Given the description of an element on the screen output the (x, y) to click on. 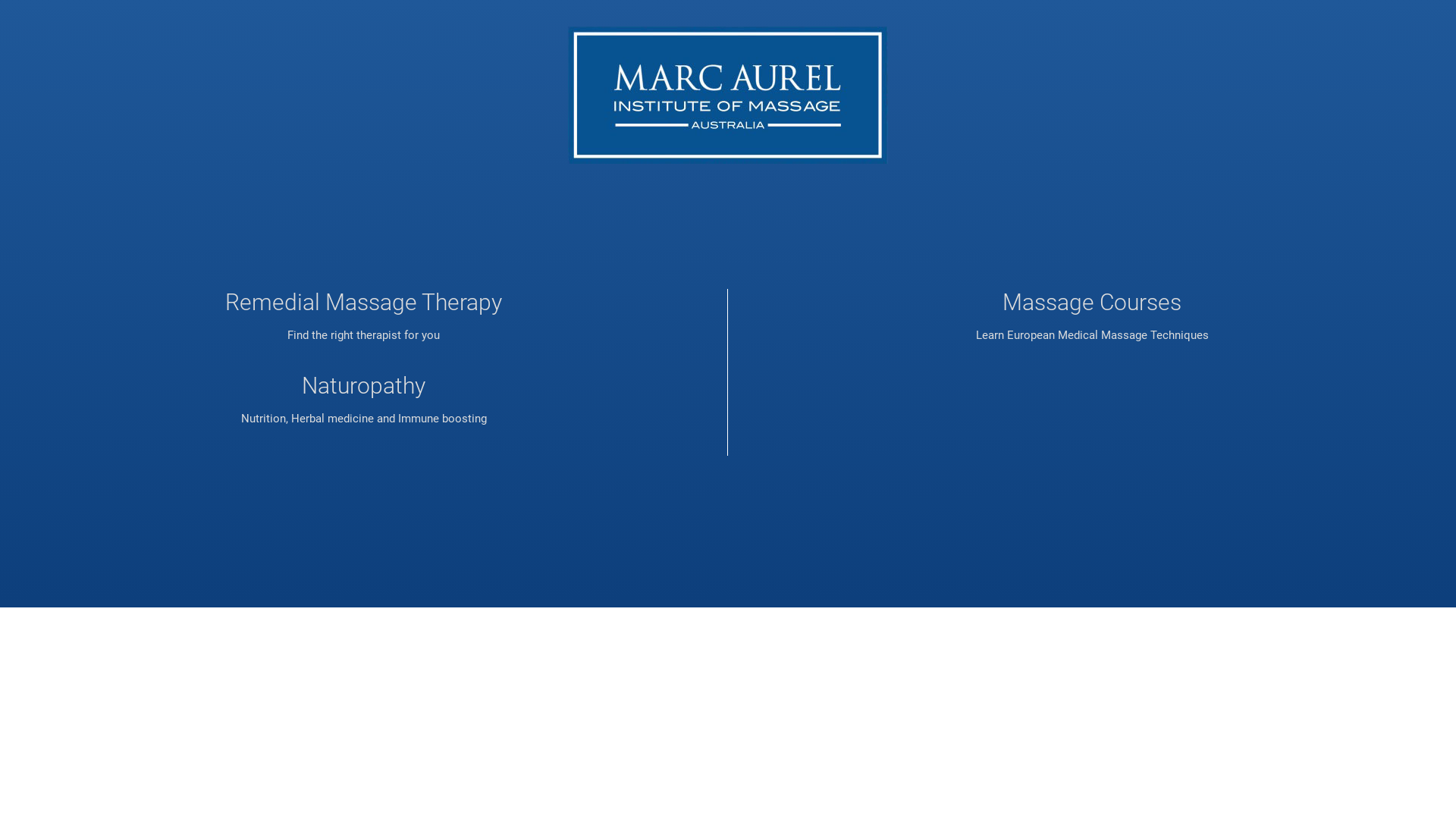
Naturopathy Element type: text (363, 385)
Massage Courses Element type: text (1091, 301)
Learn European Medical Massage Techniques Element type: text (1091, 335)
Find the right therapist for you Element type: text (363, 335)
Nutrition, Herbal medicine and Immune boosting Element type: text (363, 418)
Remedial Massage Therapy Element type: text (363, 301)
